Given the description of an element on the screen output the (x, y) to click on. 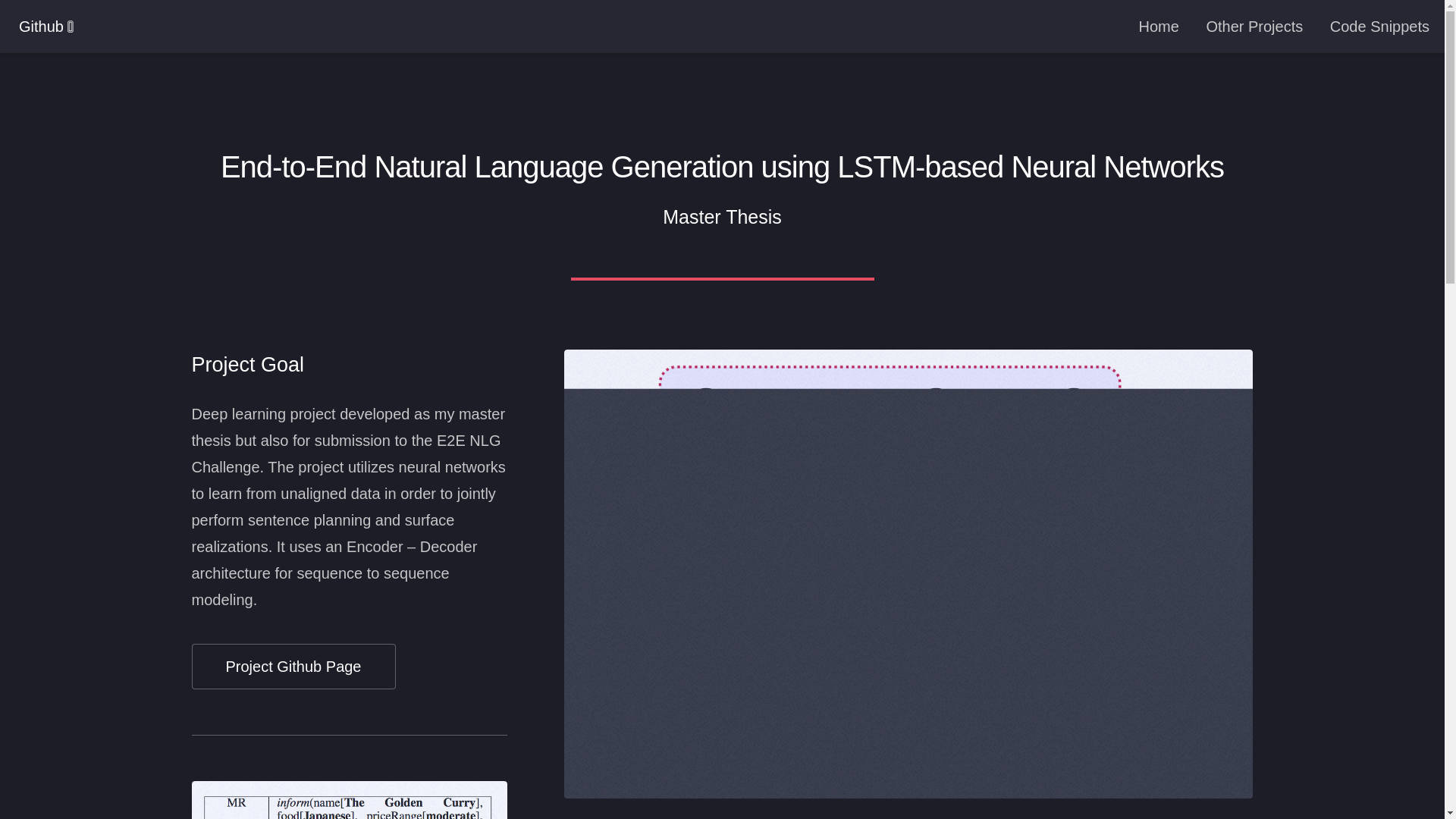
Other Projects (1254, 26)
Project Github Page (292, 666)
Code Snippets (1379, 26)
Github (41, 26)
